Given the description of an element on the screen output the (x, y) to click on. 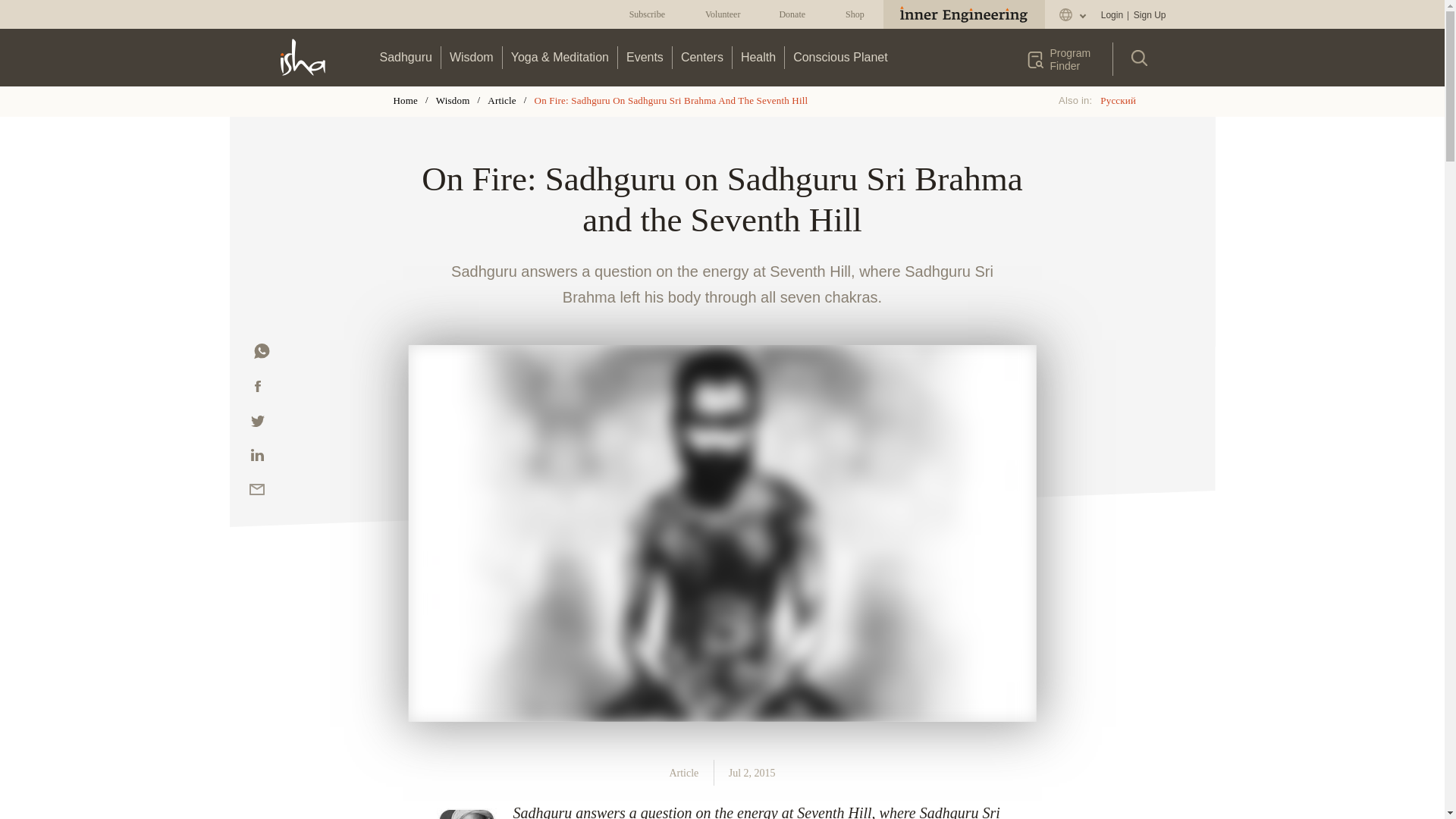
Sign Up (1149, 15)
Login (1112, 15)
Wisdom (471, 56)
Sadhguru (406, 56)
